Given the description of an element on the screen output the (x, y) to click on. 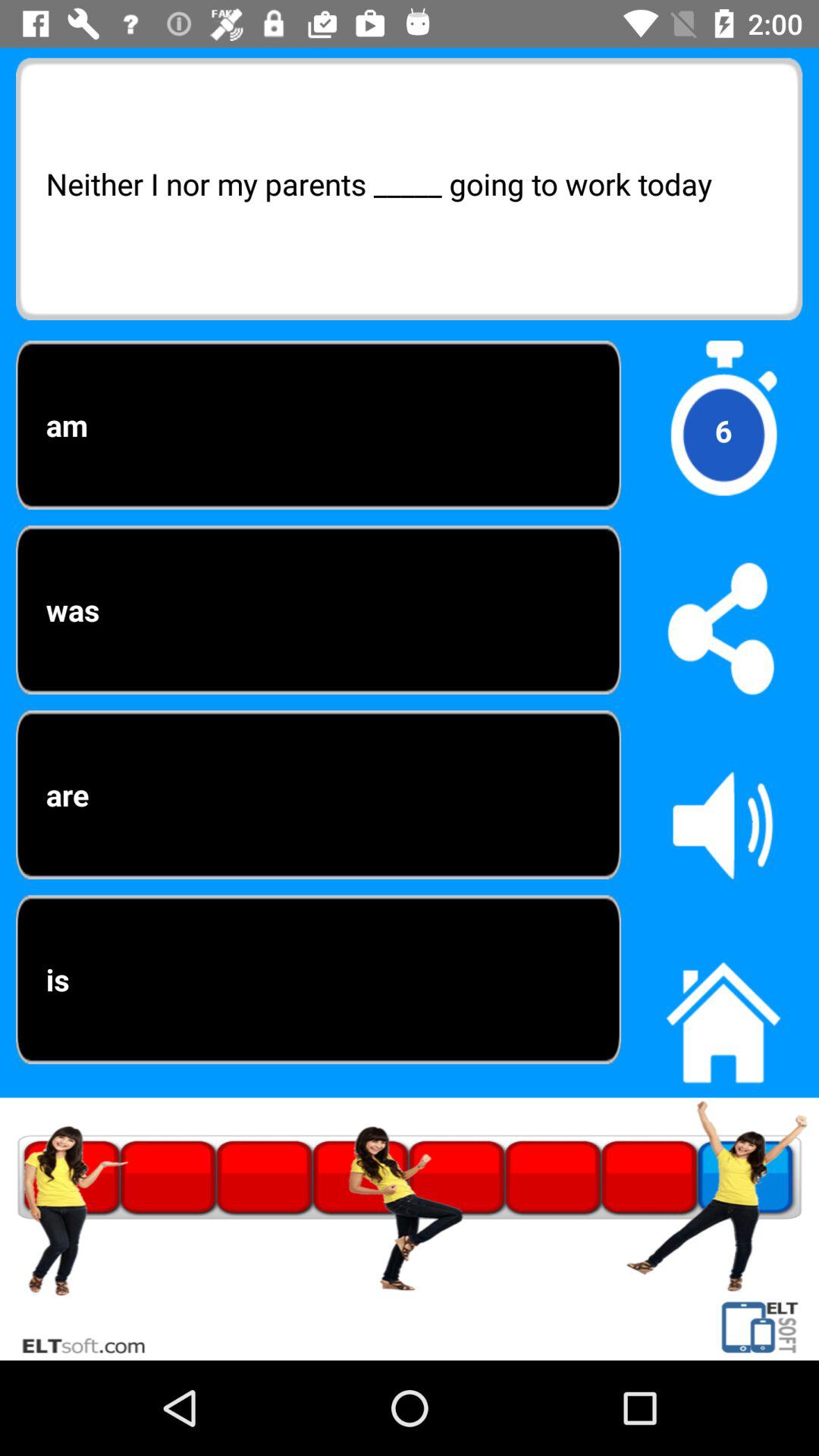
choose 6 (723, 430)
